Given the description of an element on the screen output the (x, y) to click on. 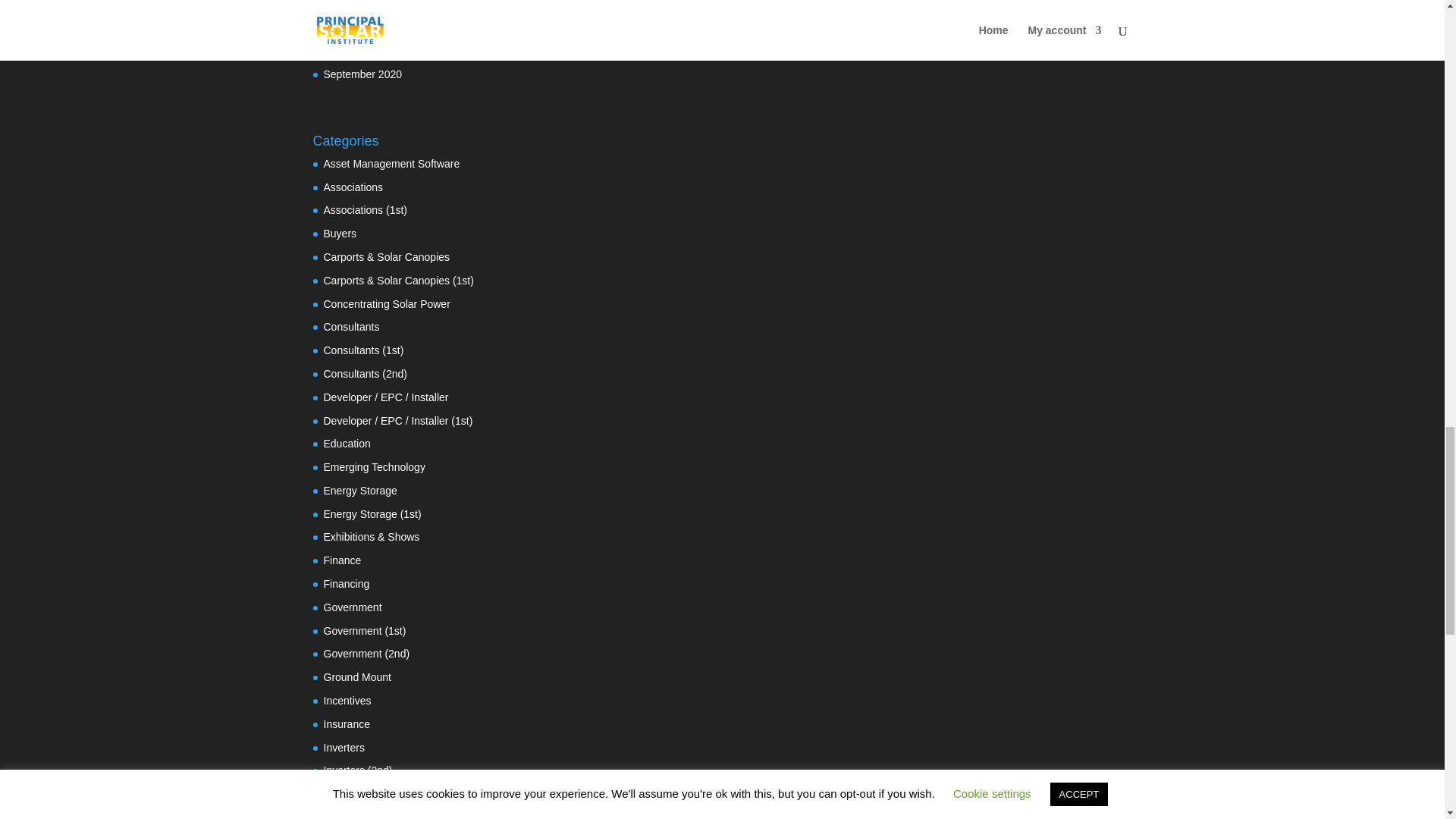
Consultants (350, 326)
Associations (352, 186)
Asset Management Software (391, 163)
Buyers (339, 233)
Education (346, 443)
September 2020 (362, 73)
Energy Storage (359, 490)
Concentrating Solar Power (386, 304)
Emerging Technology (374, 467)
